Given the description of an element on the screen output the (x, y) to click on. 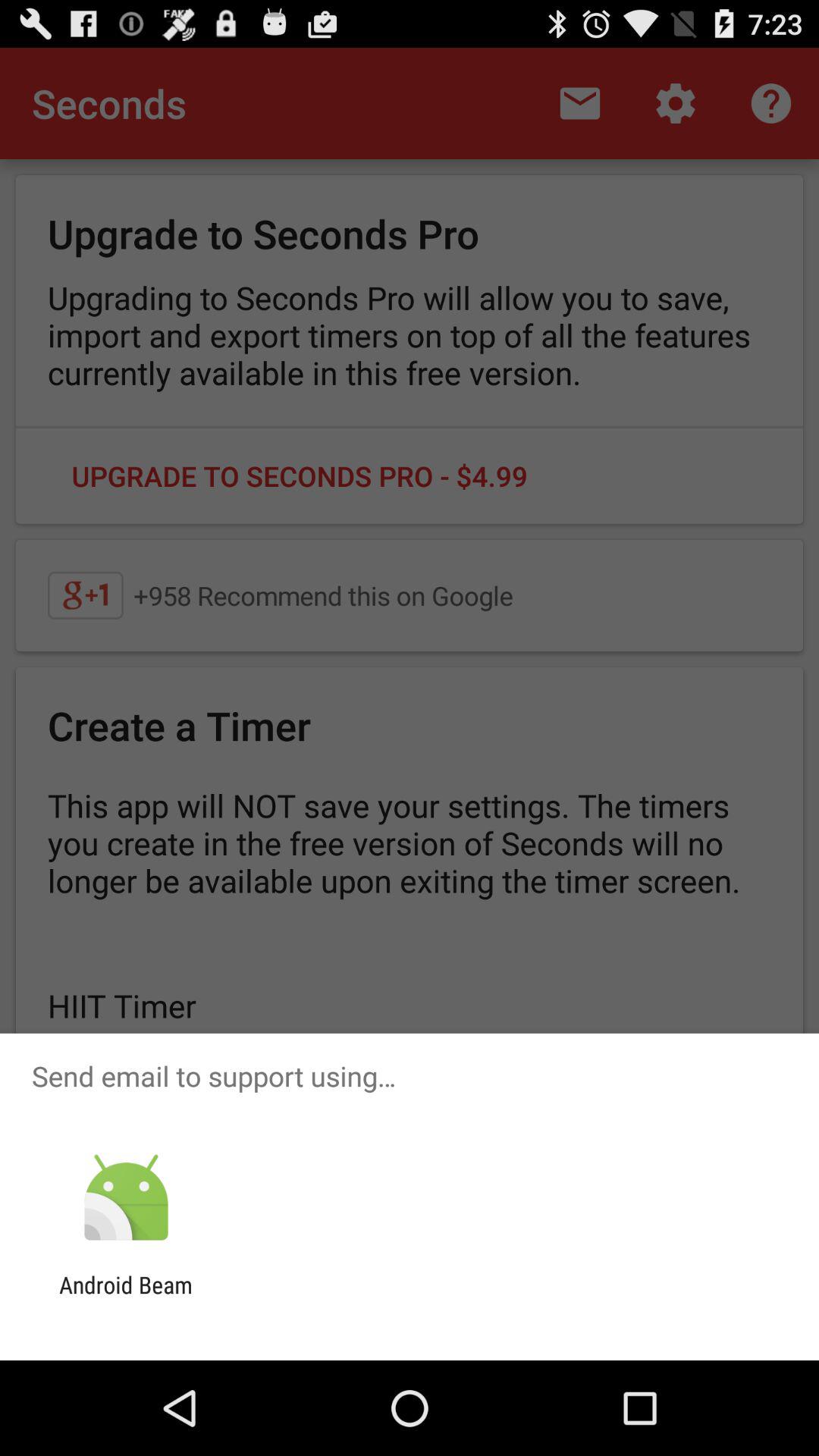
tap the app above the android beam app (126, 1198)
